Given the description of an element on the screen output the (x, y) to click on. 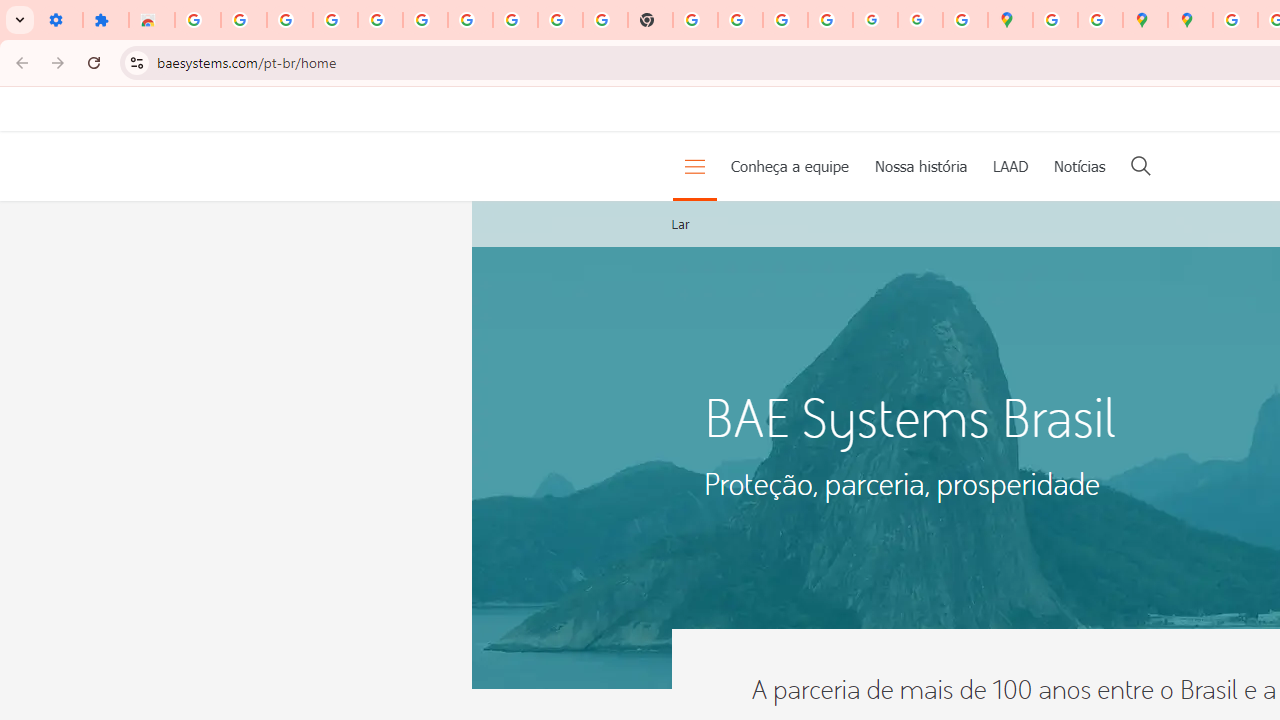
Sign in - Google Accounts (198, 20)
Google Account (514, 20)
Delete photos & videos - Computer - Google Photos Help (290, 20)
YouTube (559, 20)
Google Maps (1010, 20)
Lar (679, 223)
New Tab (650, 20)
